Given the description of an element on the screen output the (x, y) to click on. 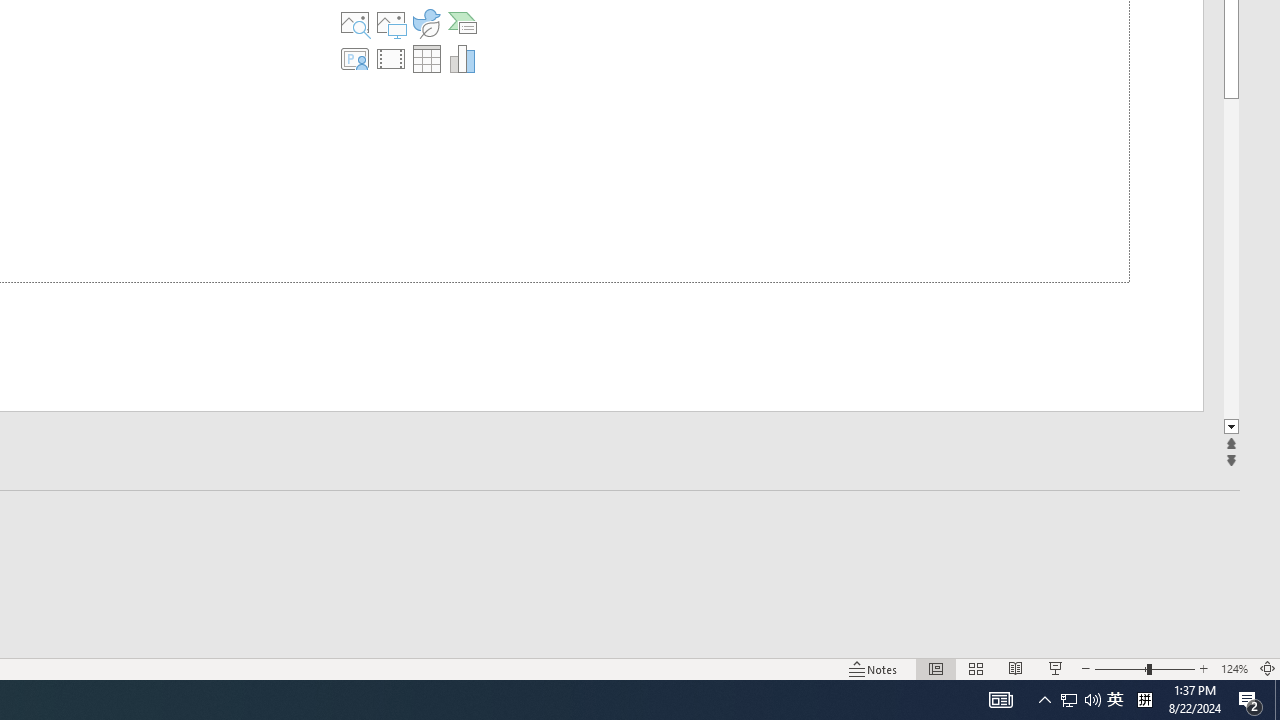
Insert an Icon (426, 22)
Insert Video (391, 58)
Zoom 124% (1234, 668)
Insert Cameo (355, 58)
Insert Table (426, 58)
Insert Chart (462, 58)
